Given the description of an element on the screen output the (x, y) to click on. 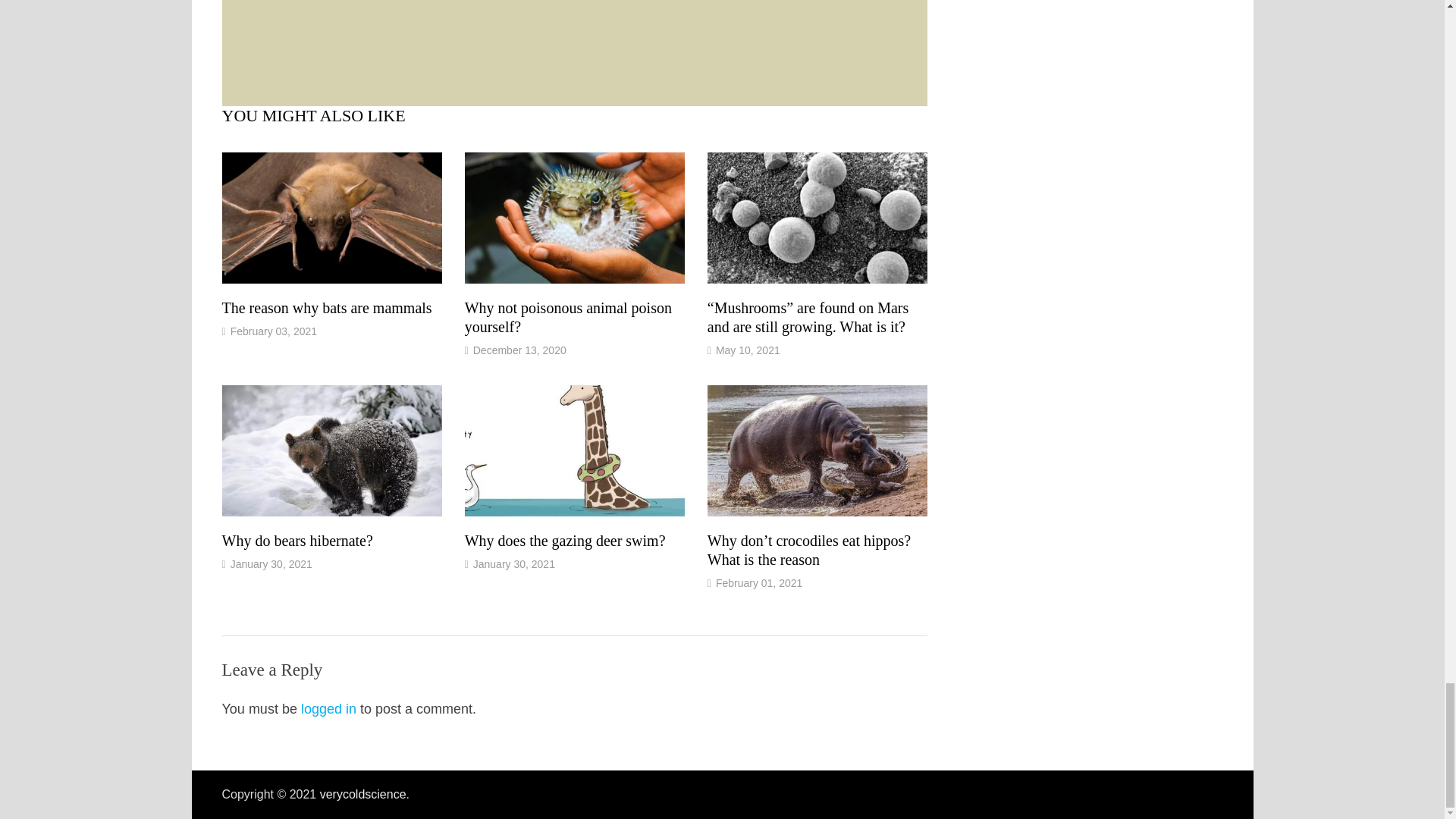
Why not poisonous animal poison yourself? (567, 316)
Why do bears hibernate? (296, 540)
January 30, 2021 (513, 563)
The reason why bats are mammals (325, 307)
February 03, 2021 (273, 331)
Why does the gazing deer swim? (564, 540)
logged in (328, 708)
January 30, 2021 (271, 563)
February 01, 2021 (759, 582)
The reason why bats are mammals (325, 307)
